Given the description of an element on the screen output the (x, y) to click on. 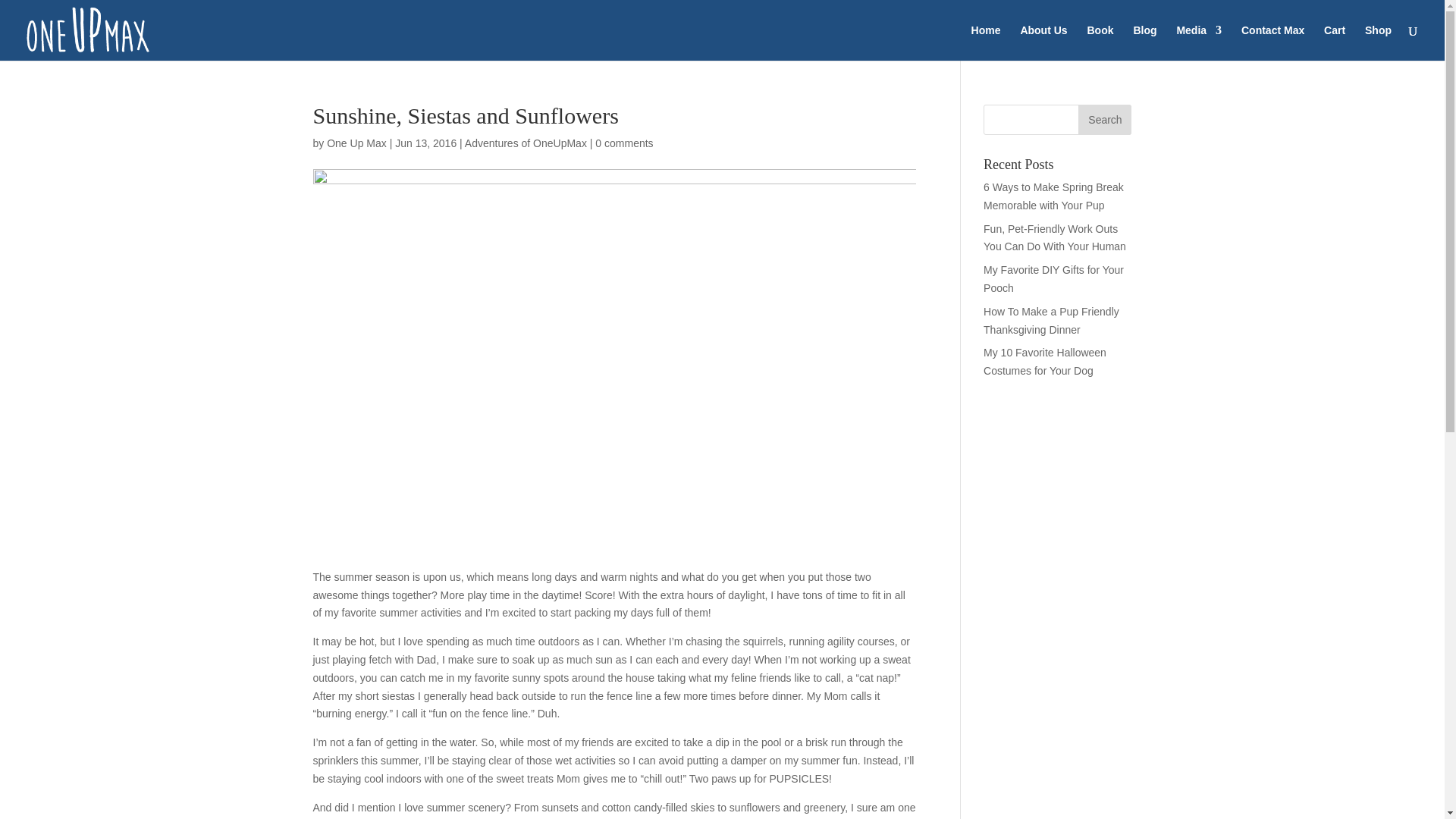
My Favorite DIY Gifts for Your Pooch (1054, 278)
0 comments (623, 143)
Media (1198, 42)
Contact Max (1272, 42)
How To Make a Pup Friendly Thanksgiving Dinner (1051, 320)
My 10 Favorite Halloween Costumes for Your Dog (1045, 361)
One Up Max (356, 143)
Adventures of OneUpMax (525, 143)
Search (1104, 119)
Search (1104, 119)
About Us (1043, 42)
6 Ways to Make Spring Break Memorable with Your Pup (1054, 195)
Fun, Pet-Friendly Work Outs You Can Do With Your Human (1054, 237)
Posts by One Up Max (356, 143)
